Given the description of an element on the screen output the (x, y) to click on. 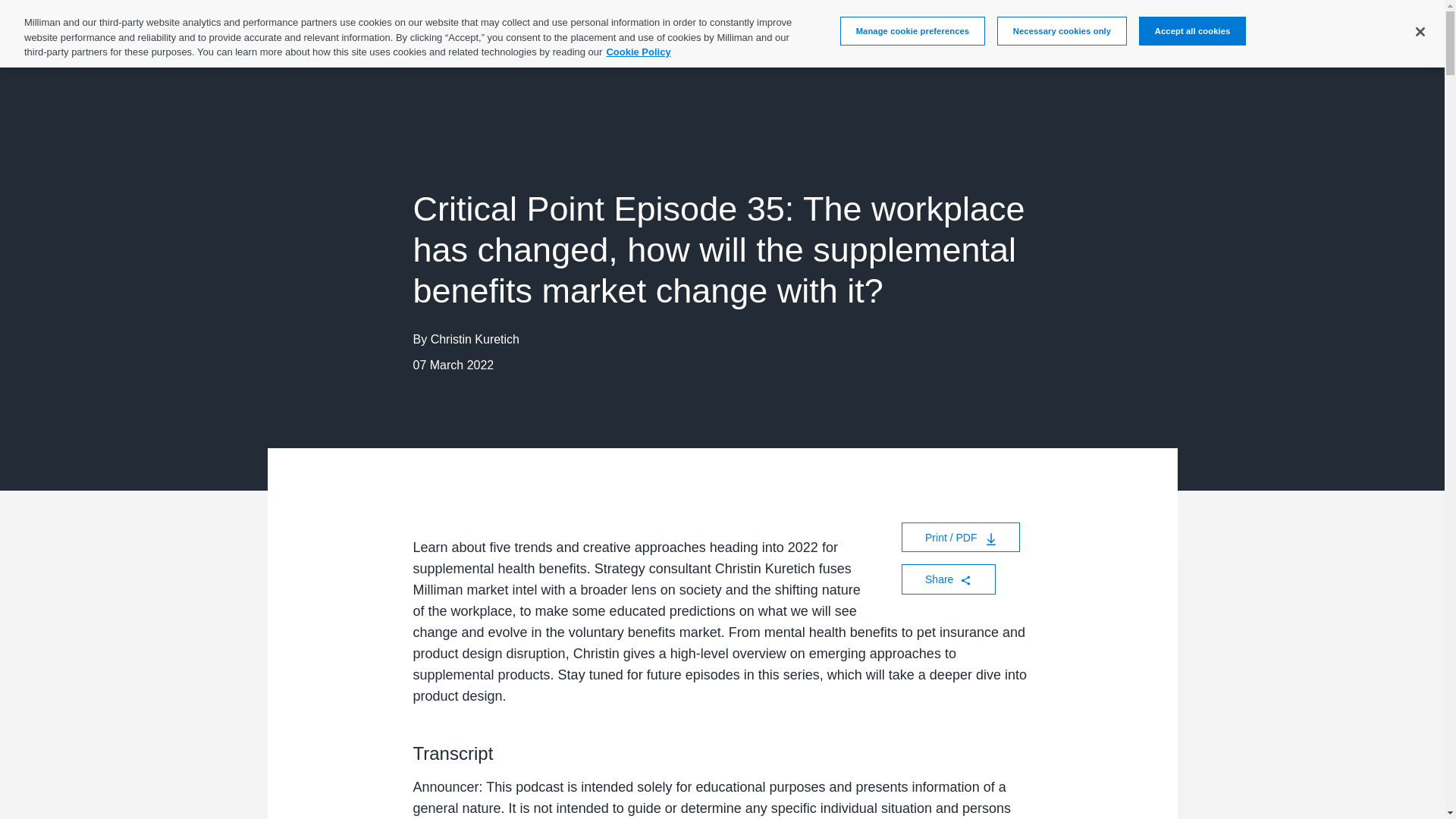
Skip to main content (43, 36)
Insurance (662, 40)
